Given the description of an element on the screen output the (x, y) to click on. 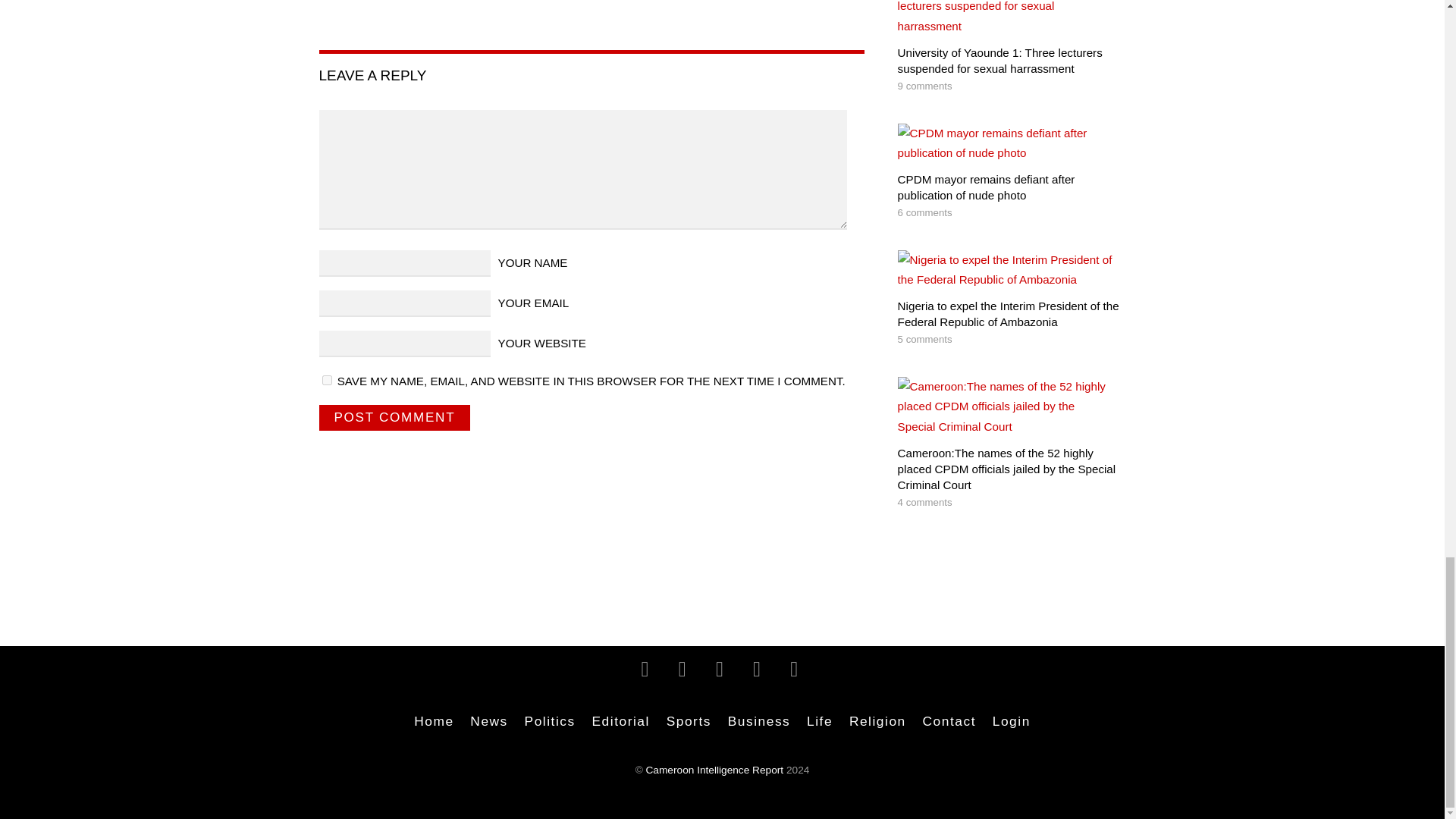
yes (326, 379)
Post Comment (394, 417)
